Given the description of an element on the screen output the (x, y) to click on. 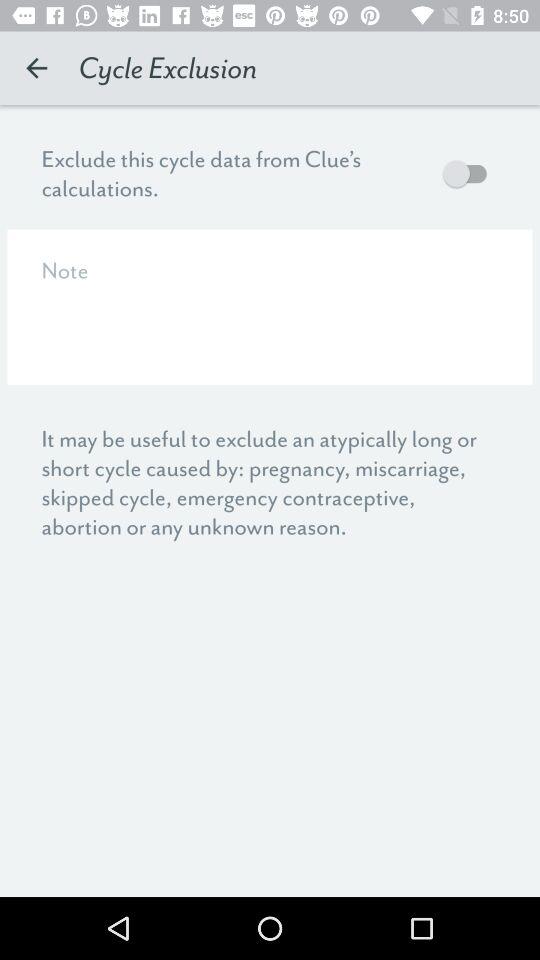
exclude cycle data from calculations option (469, 173)
